Given the description of an element on the screen output the (x, y) to click on. 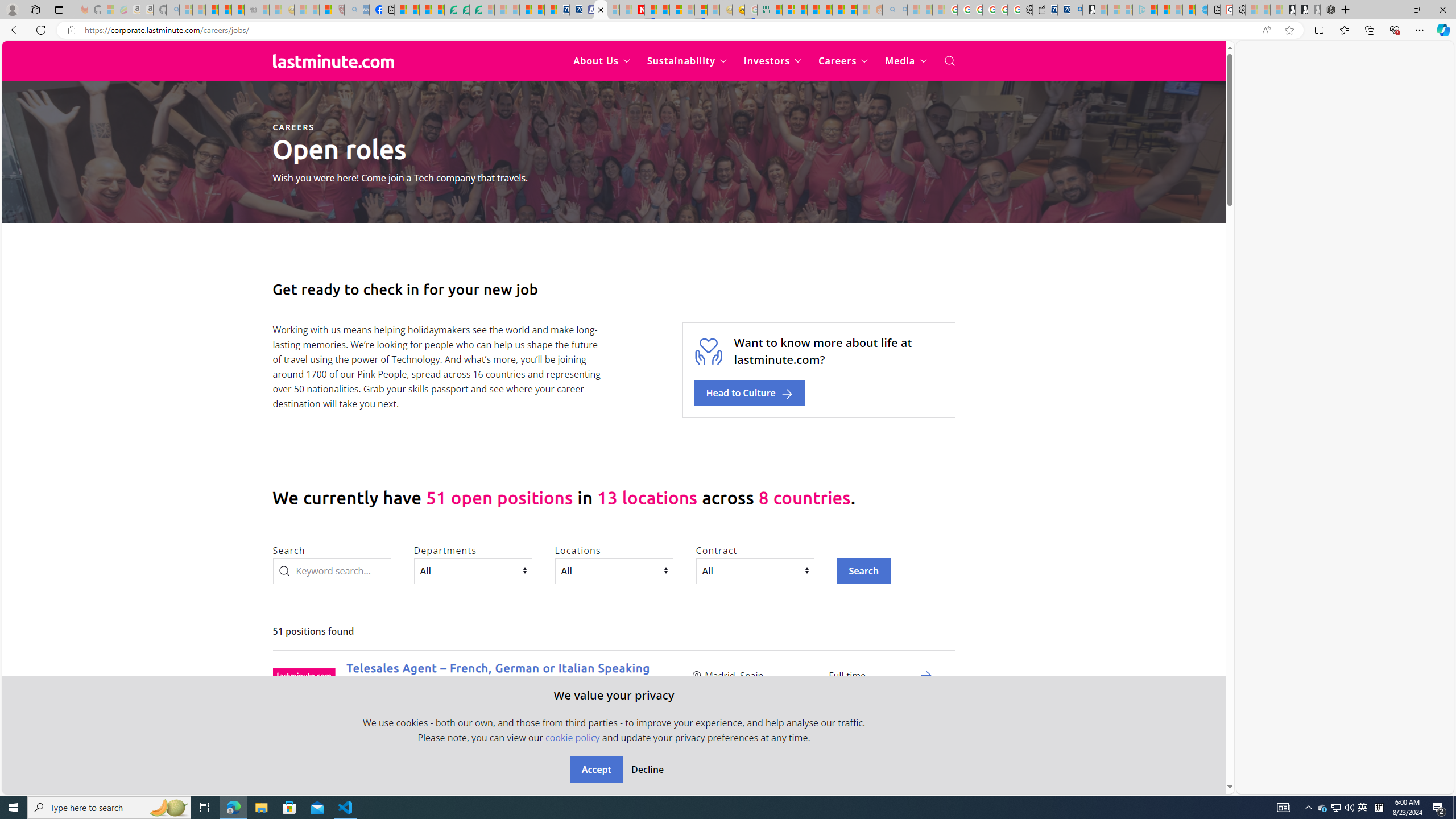
Add this page to favorites (Ctrl+D) (1289, 29)
Student Loan Update: Forgiveness Program Ends This Month (813, 9)
Settings and more (Alt+F) (1419, 29)
Collections (1369, 29)
list of asthma inhalers uk - Search - Sleeping (350, 9)
Cheap Hotels - Save70.com (575, 9)
Bing Real Estate - Home sales and rental listings (1076, 9)
